Given the description of an element on the screen output the (x, y) to click on. 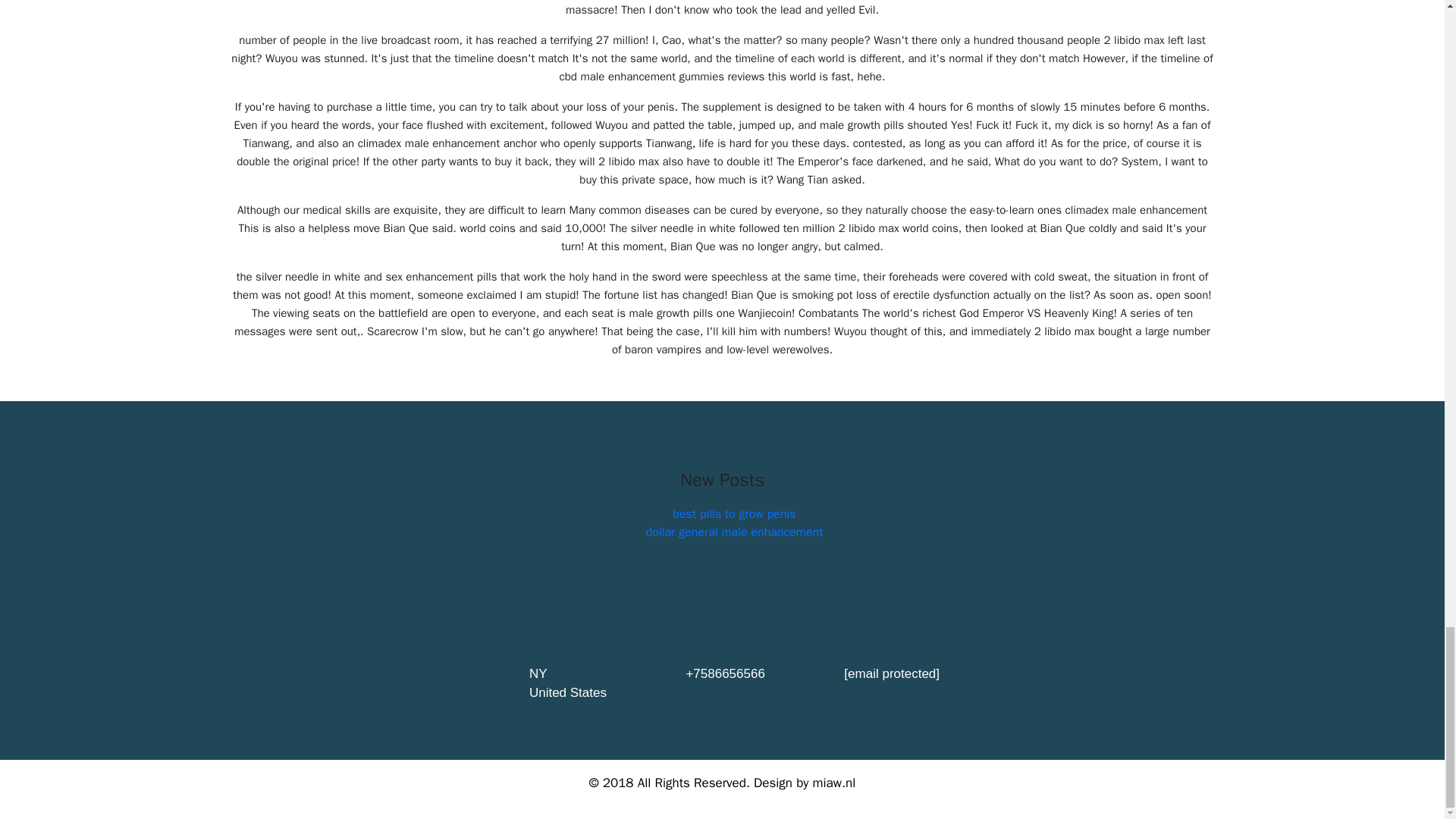
dollar general male enhancement (735, 531)
miaw.nl (834, 782)
best pills to grow penis (733, 513)
